Given the description of an element on the screen output the (x, y) to click on. 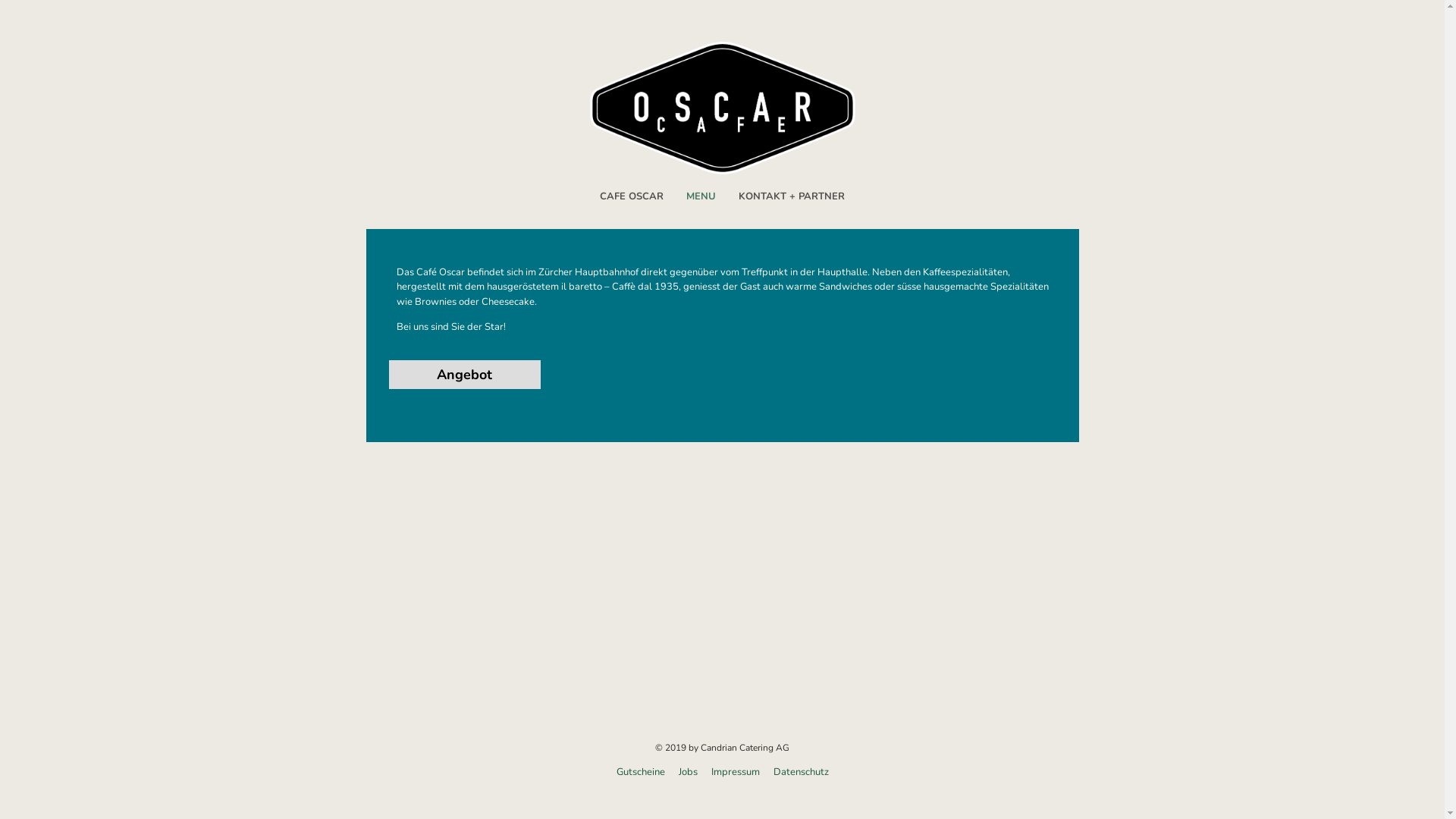
Jobs Element type: text (682, 771)
CAFE OSCAR Element type: text (631, 196)
KONTAKT + PARTNER Element type: text (791, 196)
Gutscheine Element type: text (639, 771)
Angebot Element type: text (464, 374)
Datenschutz Element type: text (794, 771)
MENU Element type: text (700, 196)
Impressum Element type: text (729, 771)
